Given the description of an element on the screen output the (x, y) to click on. 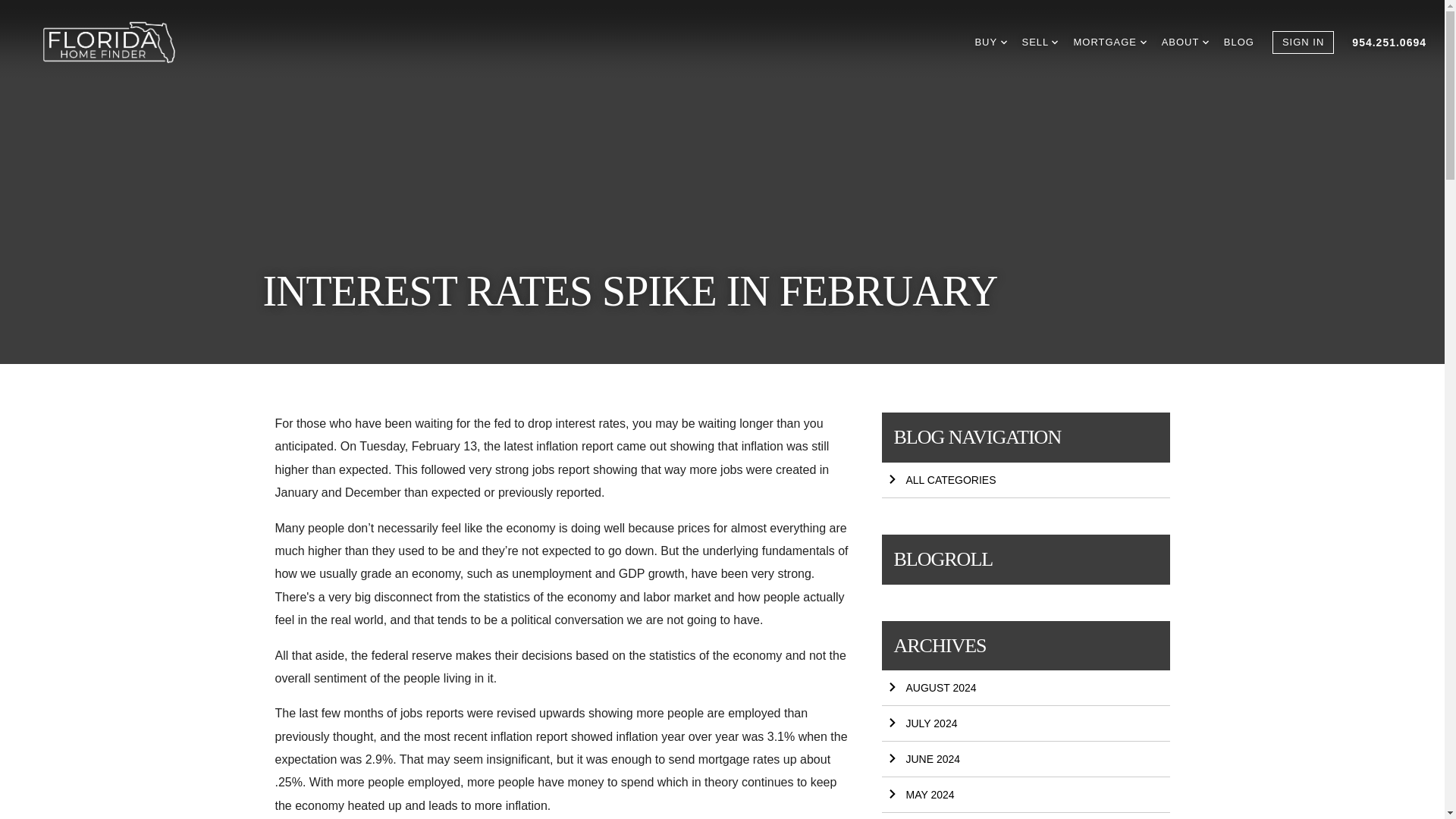
DROPDOWN ARROW (1054, 42)
DROPDOWN ARROW (1143, 42)
BUY DROPDOWN ARROW (990, 42)
BLOG (1238, 42)
MORTGAGE DROPDOWN ARROW (1109, 42)
SELL DROPDOWN ARROW (1040, 42)
DROPDOWN ARROW (1205, 42)
DROPDOWN ARROW (1004, 42)
954.251.0694 (1389, 42)
SIGN IN (1302, 42)
